Given the description of an element on the screen output the (x, y) to click on. 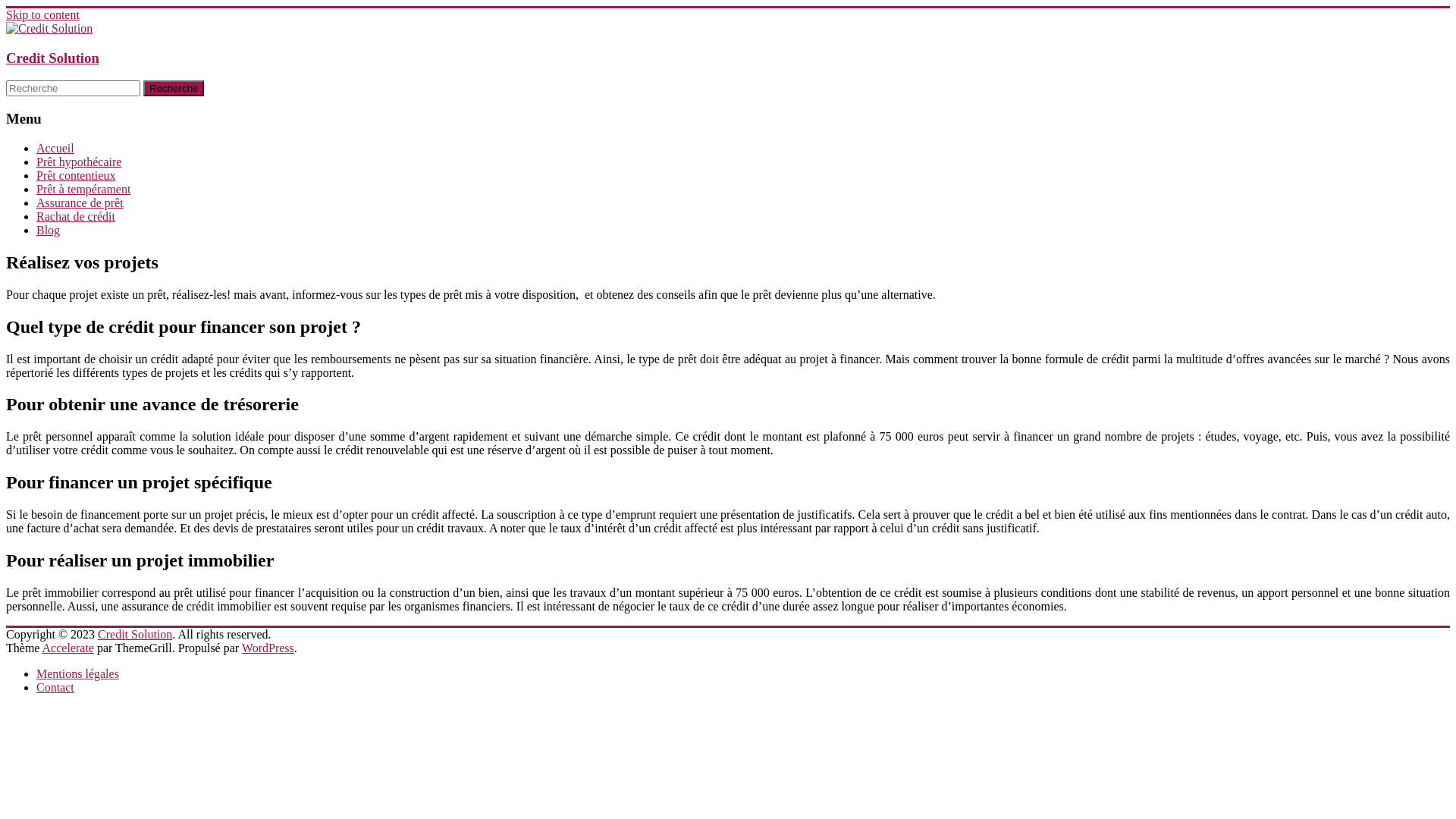
WordPress Element type: text (267, 647)
Credit Solution Element type: text (52, 57)
Credit Solution Element type: text (134, 633)
Recherche Element type: text (173, 88)
Accelerate Element type: text (68, 647)
Accueil Element type: text (55, 147)
Skip to content Element type: text (42, 14)
Contact Element type: text (55, 686)
Blog Element type: text (47, 229)
